Given the description of an element on the screen output the (x, y) to click on. 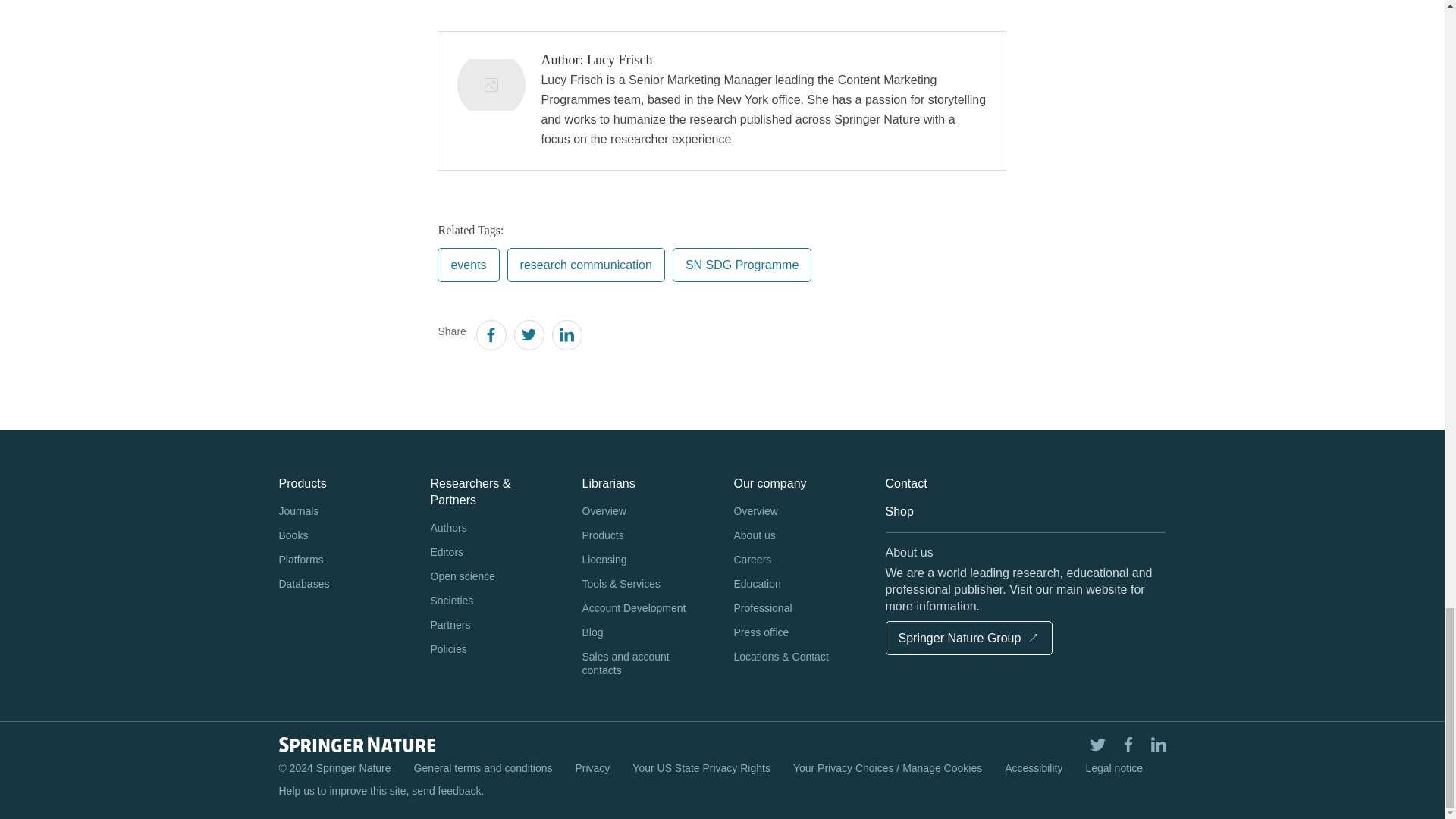
Journals (343, 511)
research communication (585, 264)
Books (343, 535)
twitter (528, 337)
SN SDG Programme (741, 264)
linkedin (566, 337)
events (468, 264)
facebook (490, 337)
